Given the description of an element on the screen output the (x, y) to click on. 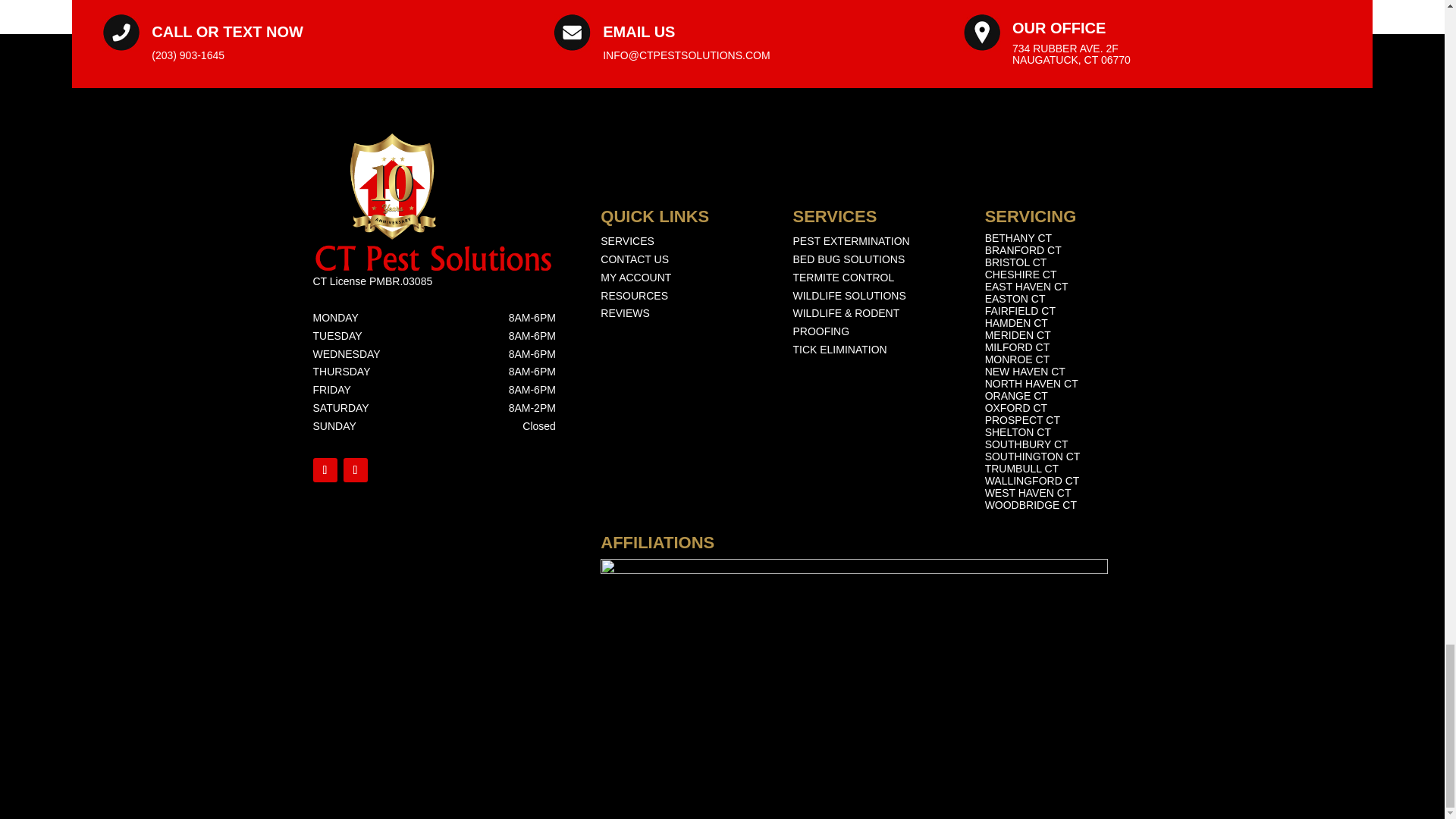
Monroe CT Pest Control (1017, 359)
Follow on Facebook (324, 469)
Hamden CT Pest Control (1016, 323)
Cheshire CT Pest Control (1021, 275)
Follow on Instagram (354, 469)
